Given the description of an element on the screen output the (x, y) to click on. 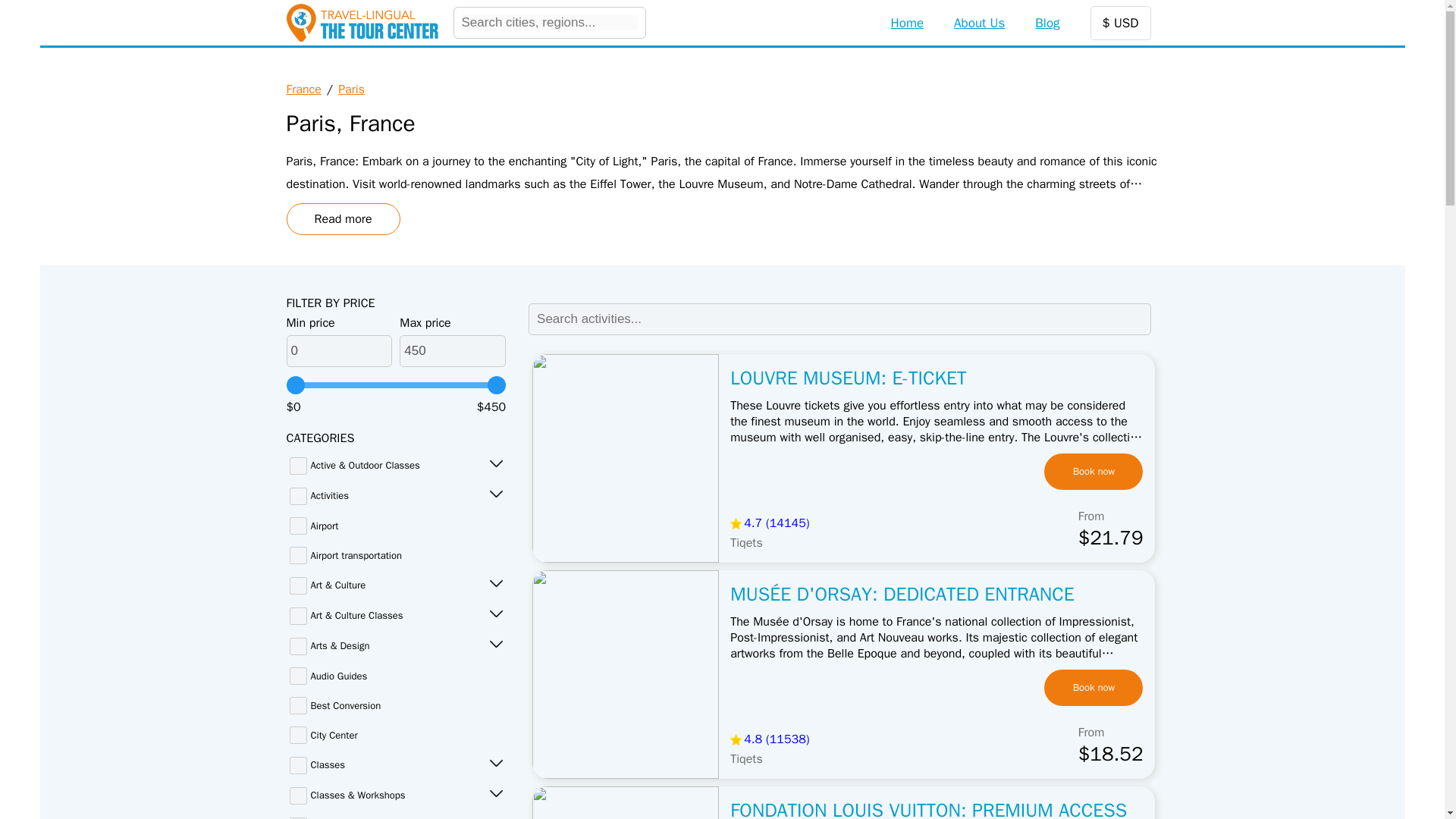
About Us (978, 22)
on (298, 615)
on (298, 675)
on (298, 496)
on (298, 795)
Blog (1047, 22)
on (298, 646)
France (303, 88)
on (298, 734)
Home (907, 22)
on (298, 466)
on (298, 525)
on (298, 705)
0 (339, 350)
